Given the description of an element on the screen output the (x, y) to click on. 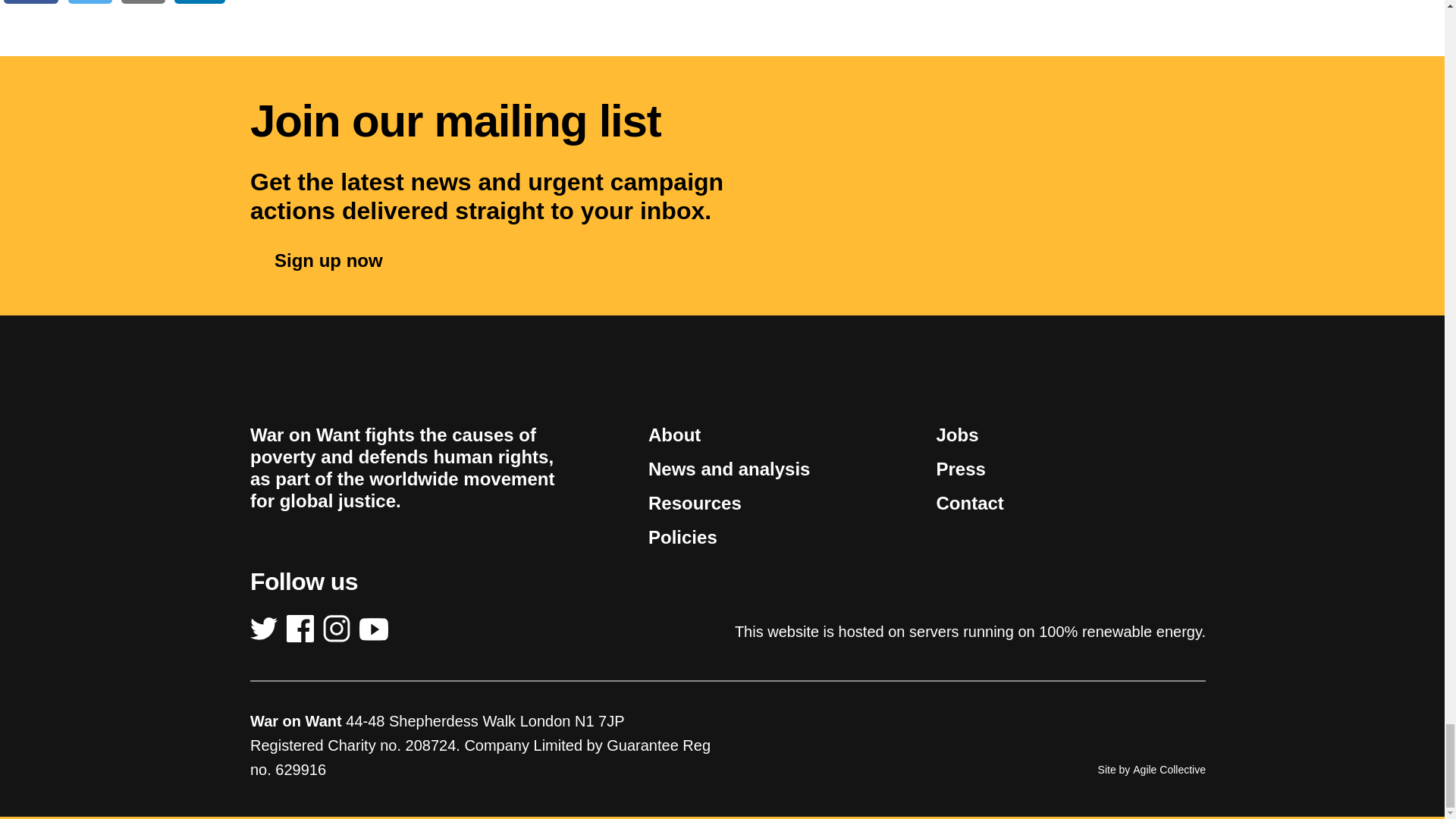
About War on Want (673, 435)
Policies (682, 536)
